Given the description of an element on the screen output the (x, y) to click on. 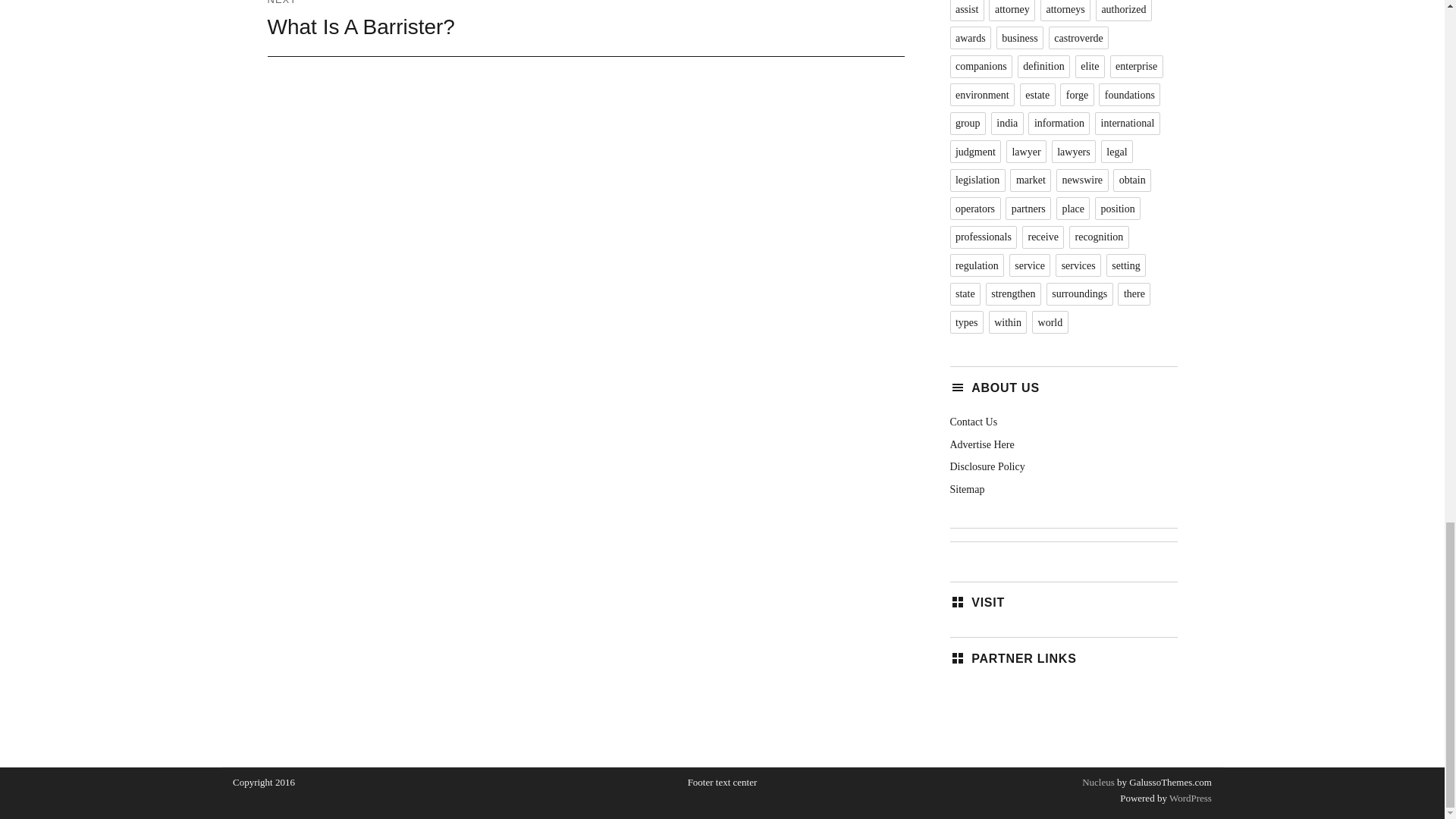
Semantic Personal Publishing Platform (1189, 797)
